Given the description of an element on the screen output the (x, y) to click on. 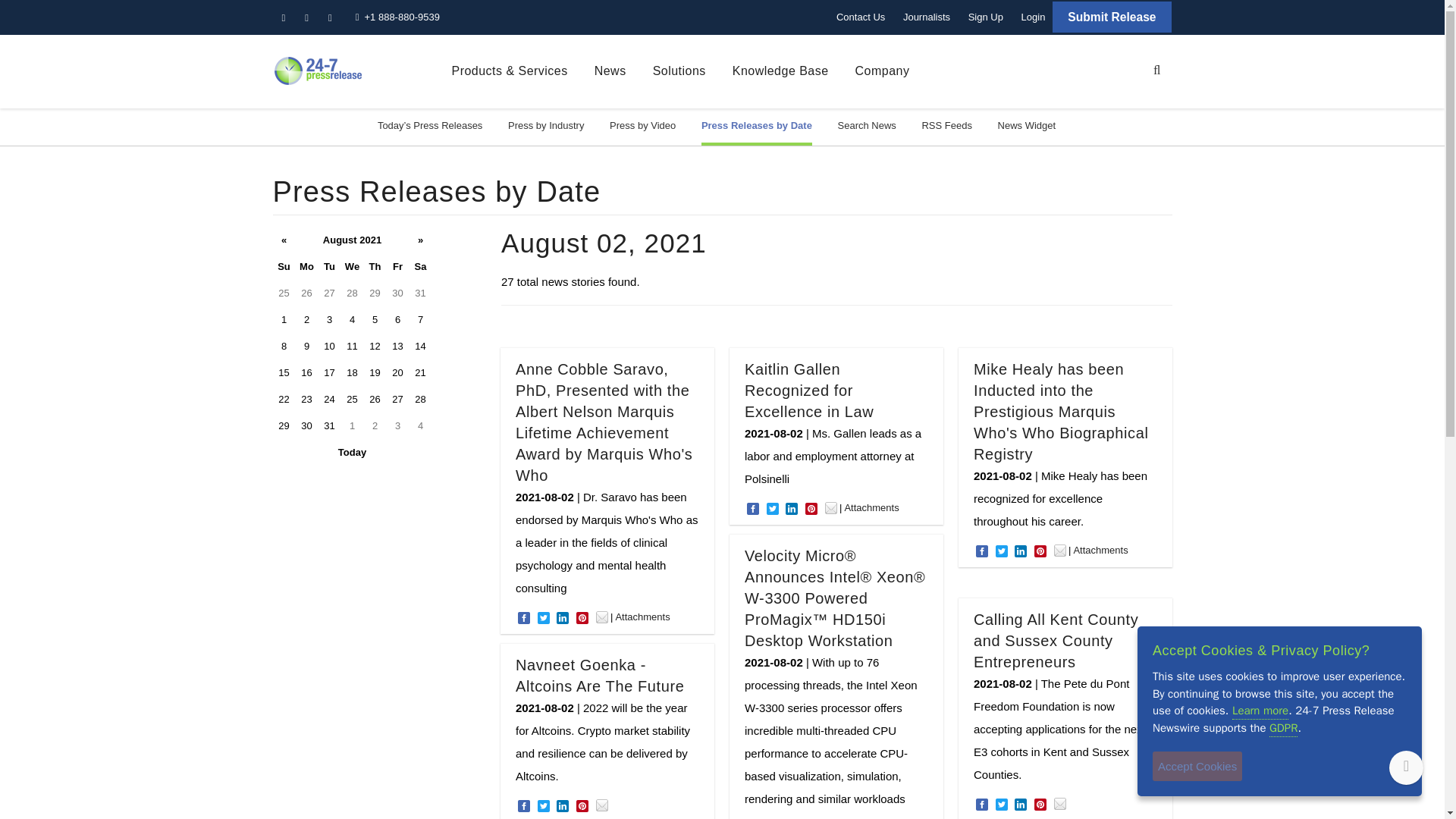
Contact Us (860, 16)
Sign Up (985, 16)
Company (882, 71)
Journalists (926, 16)
Login (1032, 16)
Submit Release (1111, 16)
Knowledge Base (780, 71)
Solutions (679, 71)
